Given the description of an element on the screen output the (x, y) to click on. 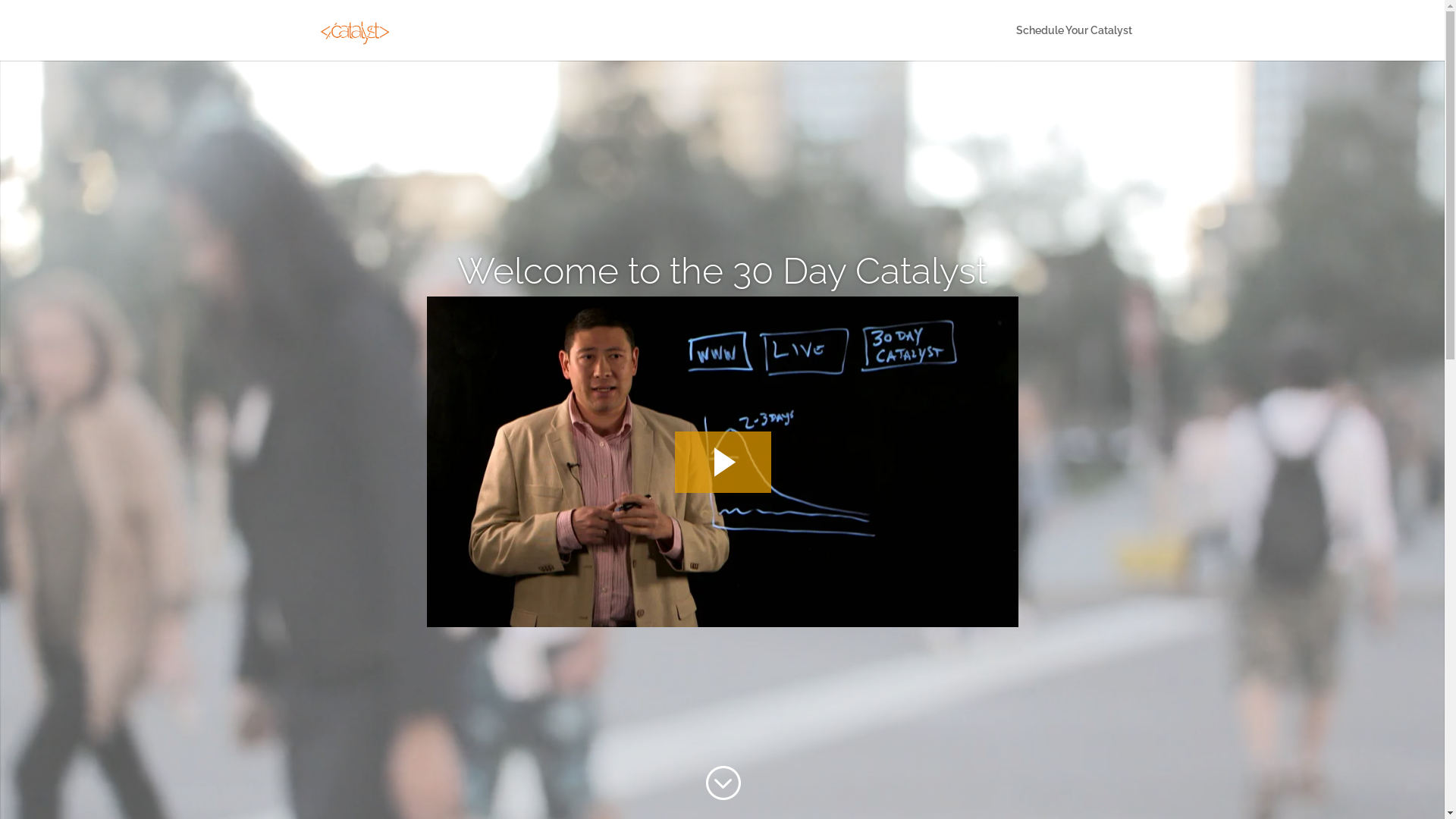
; Element type: text (721, 782)
Schedule Your Catalyst Element type: text (1074, 42)
